Given the description of an element on the screen output the (x, y) to click on. 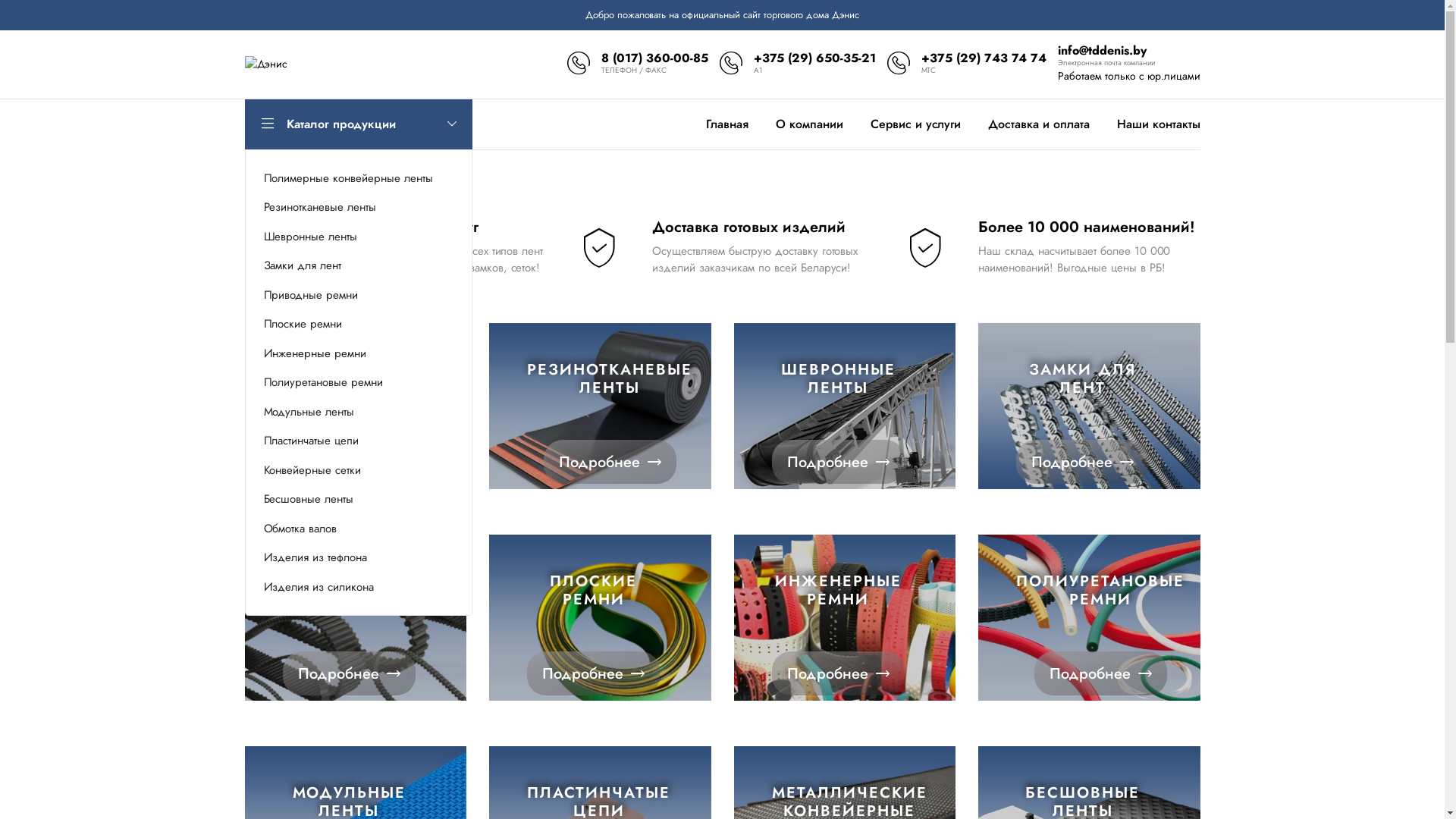
8 (017) 360-00-85 Element type: text (654, 57)
+375 (29) 650-35-21 Element type: text (814, 57)
+375 (29) 743 74 74 Element type: text (983, 57)
info@tddenis.by Element type: text (1101, 49)
